Given the description of an element on the screen output the (x, y) to click on. 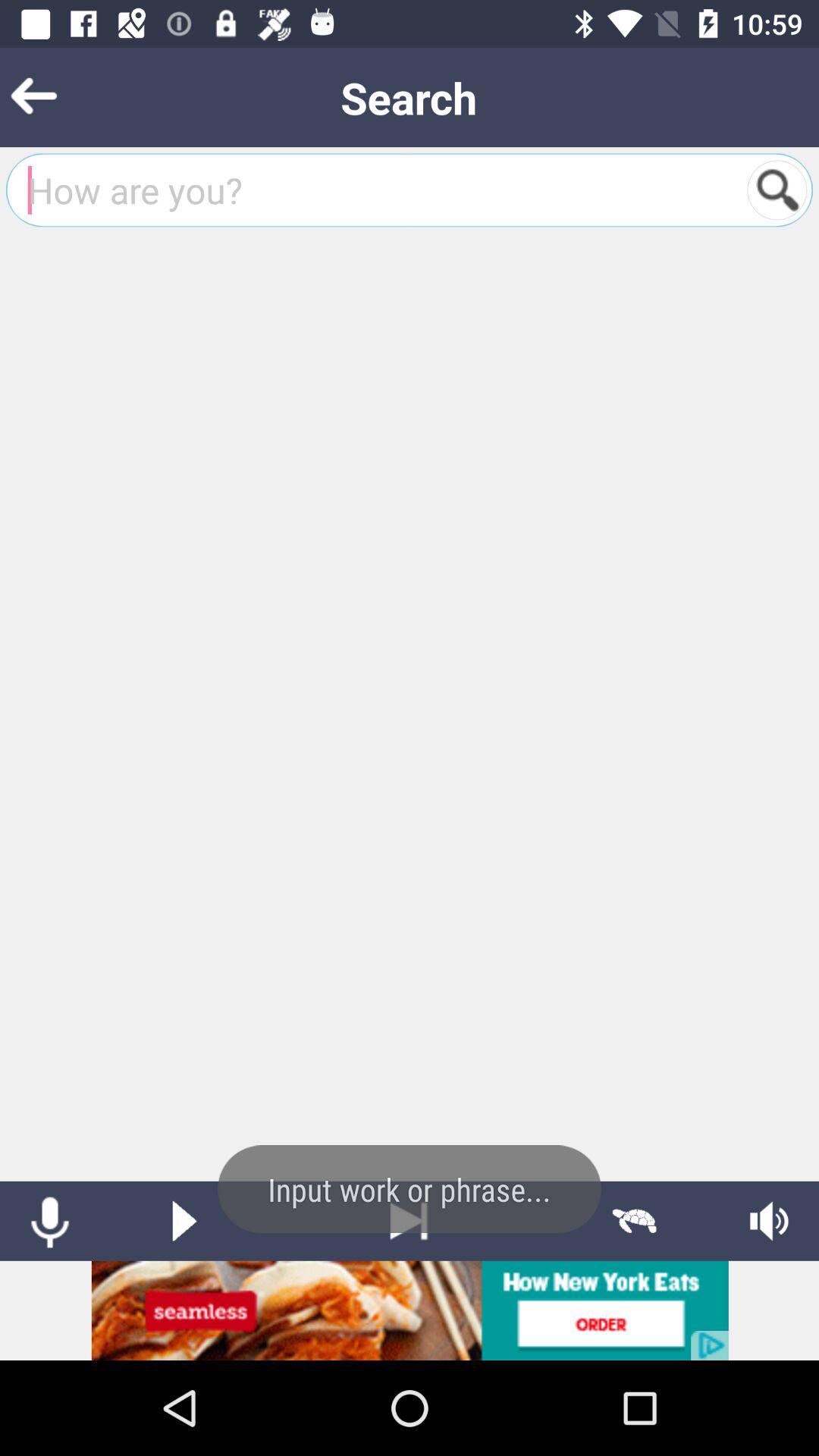
play (184, 1220)
